Given the description of an element on the screen output the (x, y) to click on. 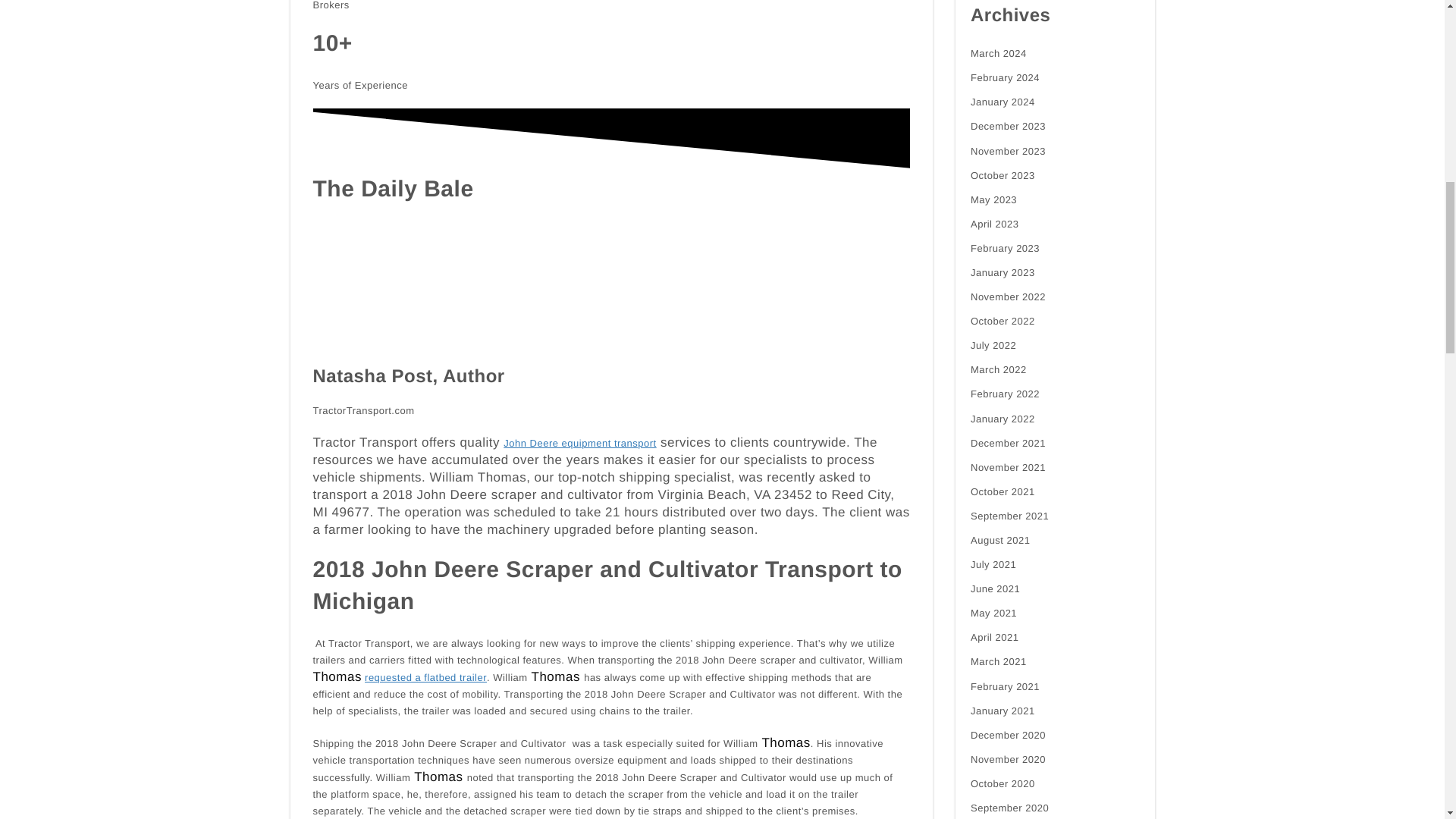
December 2023 (1008, 126)
March 2024 (998, 53)
requested a flatbed trailer (425, 677)
February 2024 (1005, 77)
April 2023 (995, 224)
May 2023 (993, 199)
January 2024 (1003, 102)
November 2023 (1008, 151)
October 2023 (1003, 175)
John Deere equipment transport (579, 443)
